Given the description of an element on the screen output the (x, y) to click on. 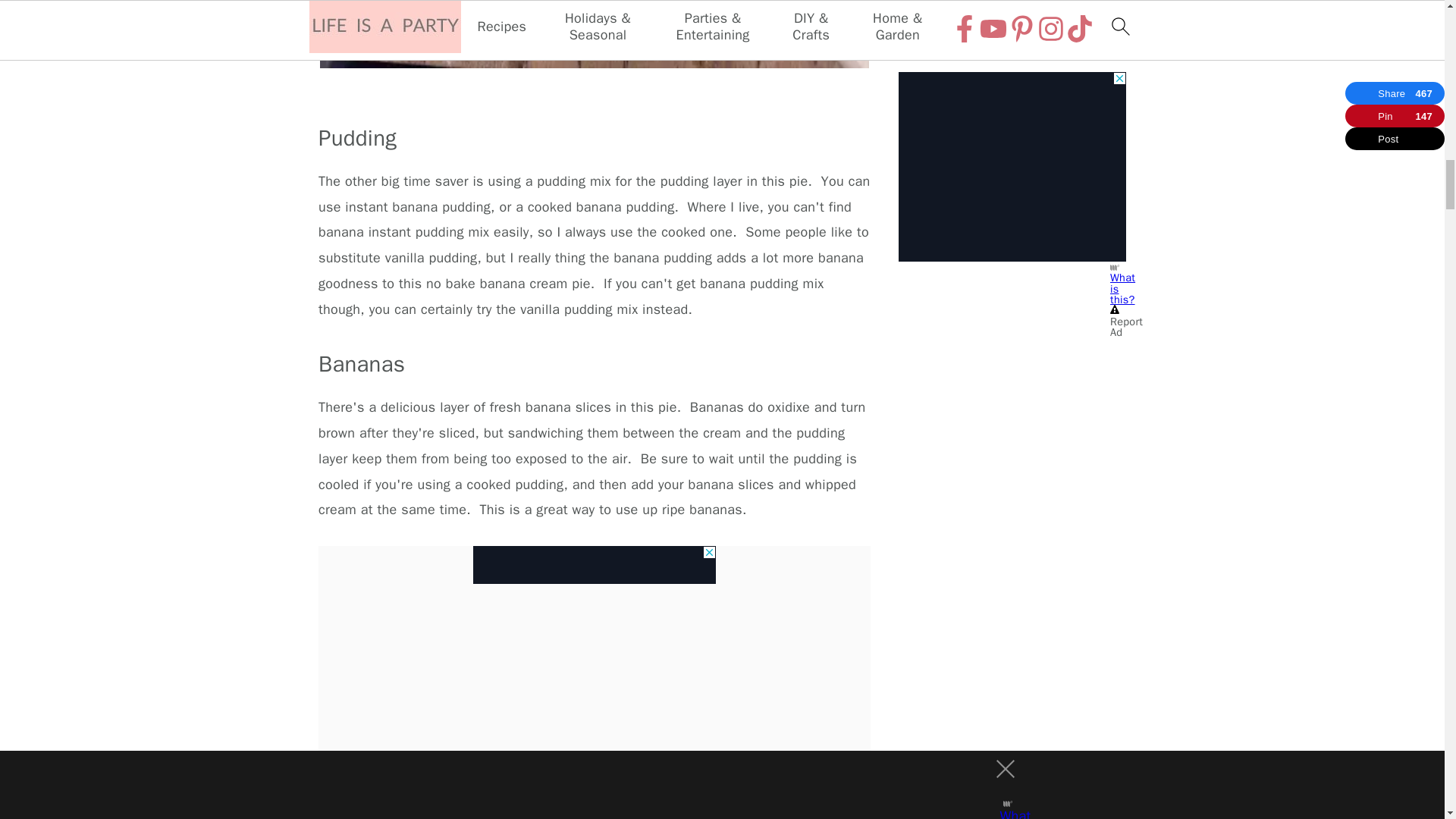
3rd party ad content (594, 564)
